Given the description of an element on the screen output the (x, y) to click on. 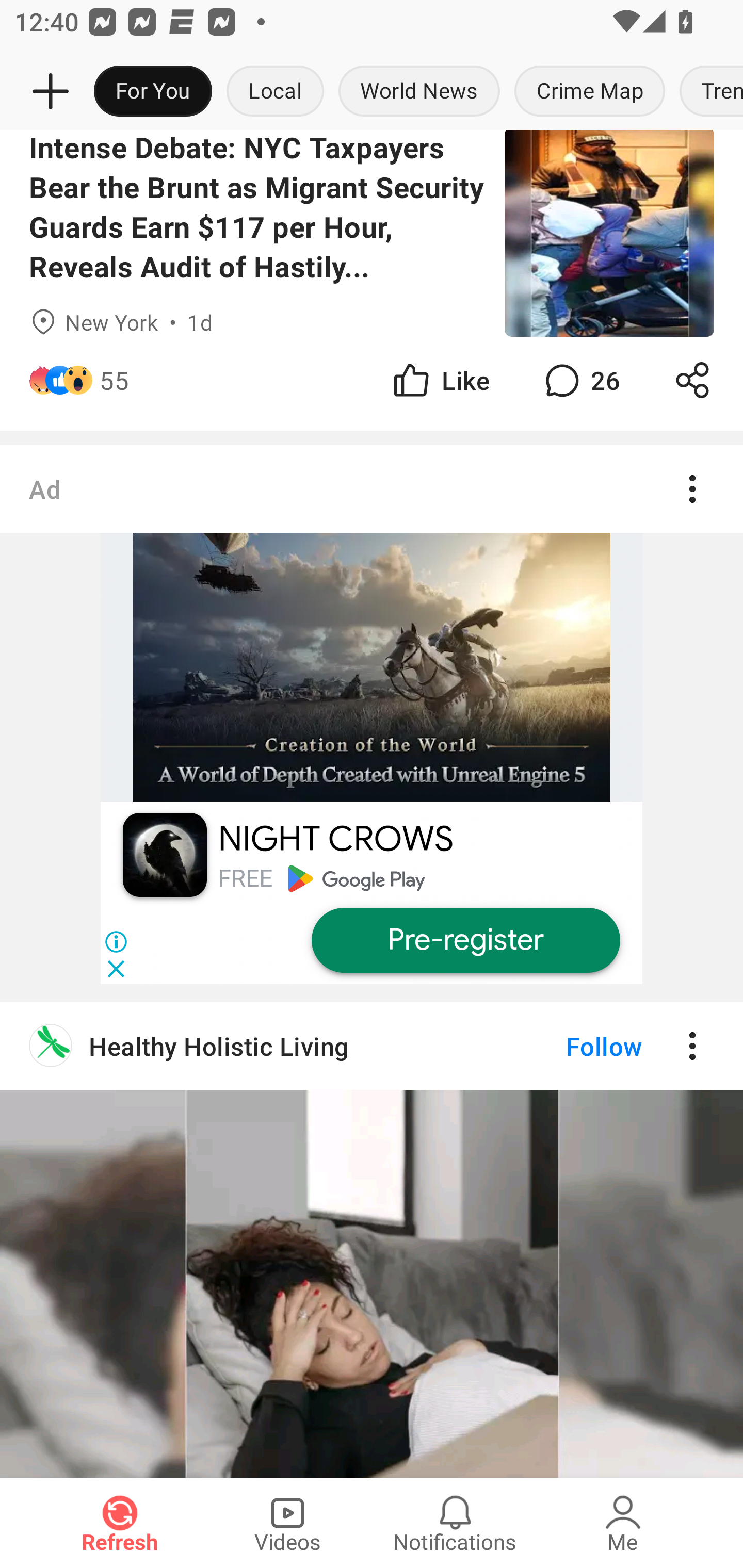
For You (152, 91)
Local (275, 91)
World News (419, 91)
Crime Map (589, 91)
55 (114, 380)
Like (439, 380)
26 (579, 380)
NIGHT CROWS (335, 838)
FREE (245, 877)
Pre-register (464, 940)
Healthy Holistic Living Follow (371, 1239)
Healthy Holistic Living Follow (371, 1045)
Follow (569, 1045)
Videos (287, 1522)
Notifications (455, 1522)
Me (622, 1522)
